Given the description of an element on the screen output the (x, y) to click on. 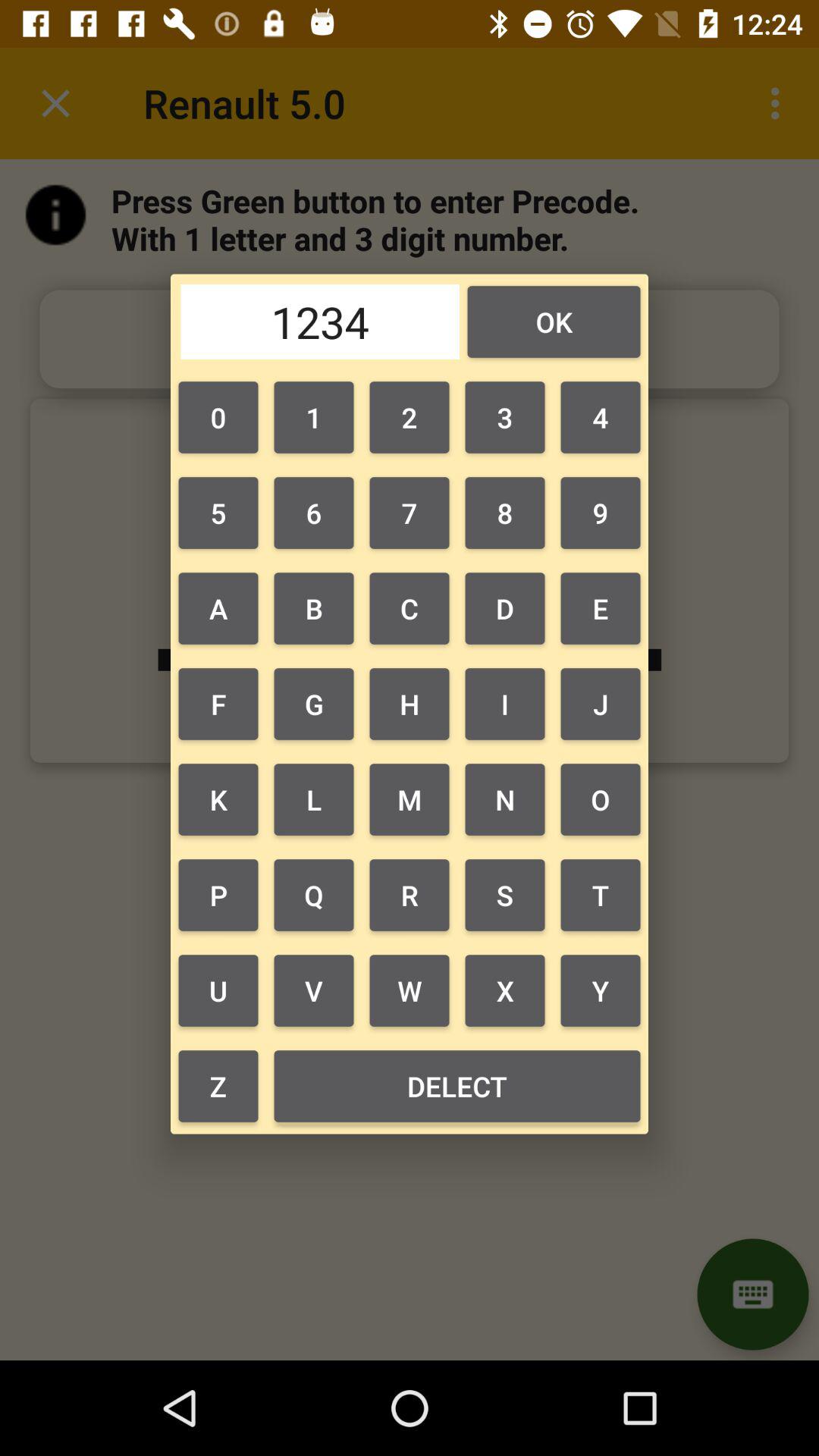
open the button above k item (218, 703)
